Given the description of an element on the screen output the (x, y) to click on. 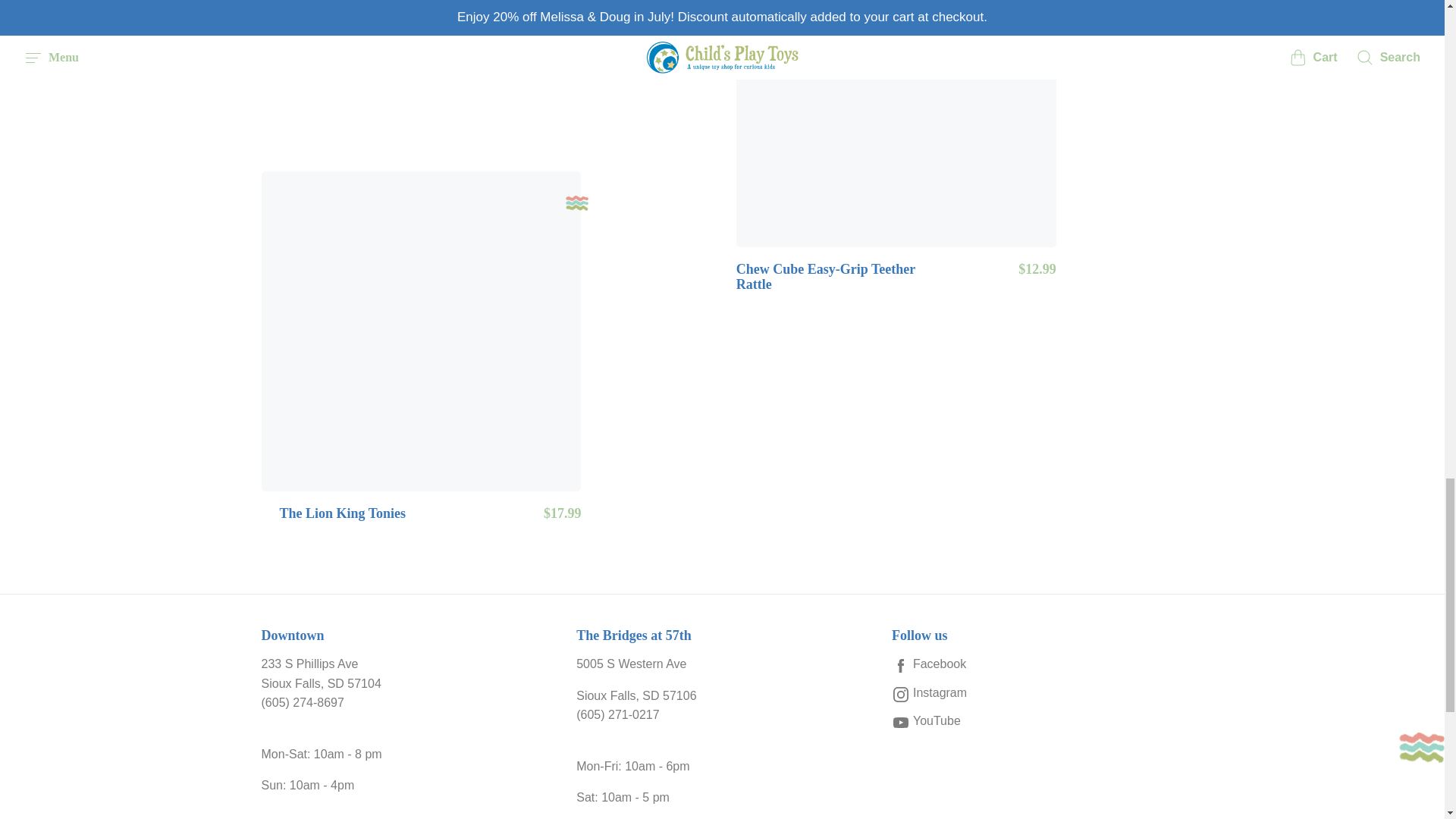
YouTube (1036, 721)
Facebook (1036, 664)
Instagram (1036, 692)
